Given the description of an element on the screen output the (x, y) to click on. 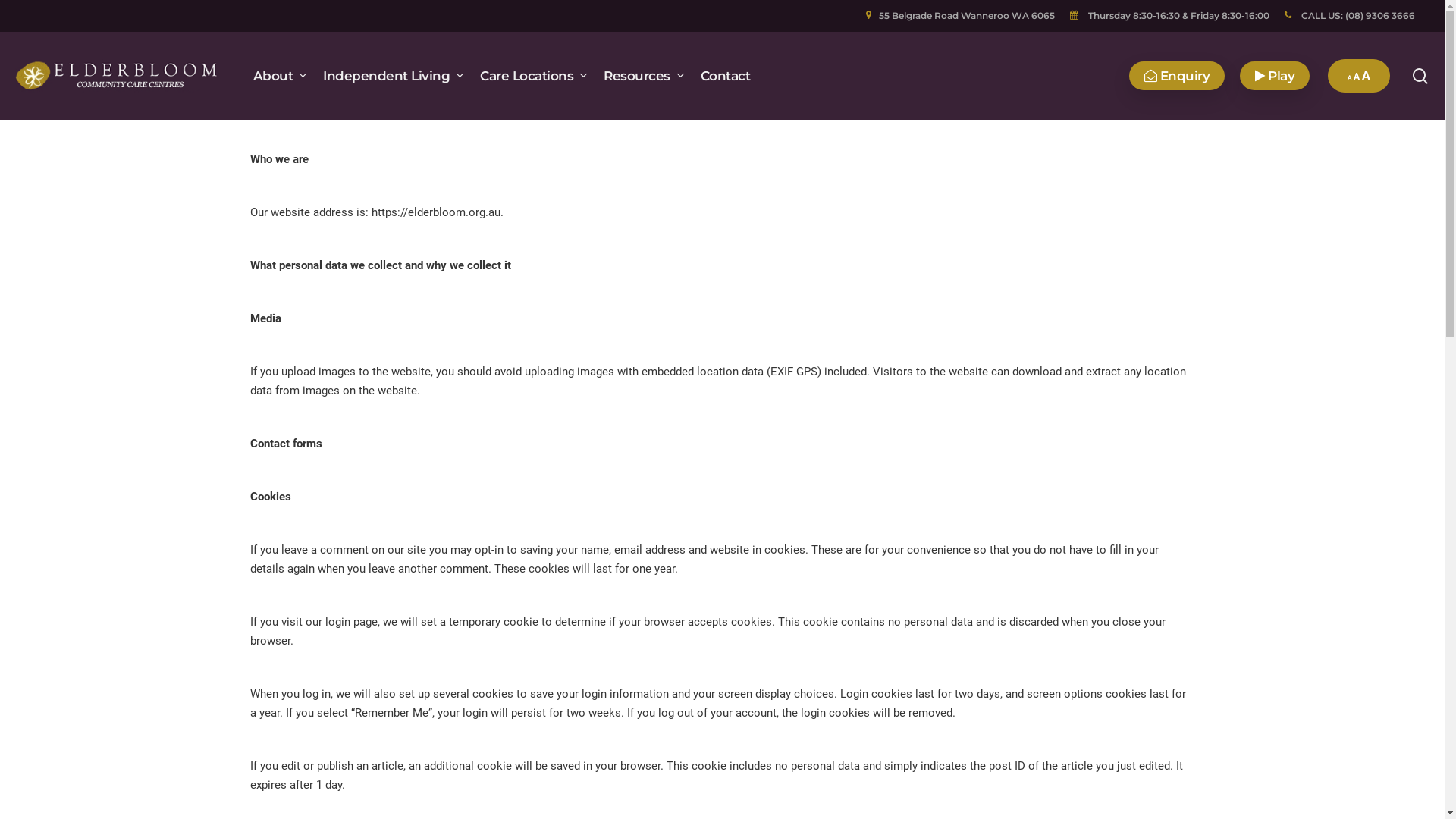
Donations Element type: text (757, 603)
Privacy Policy Element type: text (497, 778)
A
Increase font size. Element type: text (1365, 75)
Sixteen By Nine Element type: text (341, 795)
About Element type: text (280, 75)
CALL US: (08) 9306 3666 Element type: text (1349, 15)
Jacaranda Lodge Element type: text (1015, 603)
Care Locations Element type: text (534, 75)
Independent Living Element type: text (393, 75)
Resources Element type: text (644, 75)
Volunteering Element type: text (764, 678)
Wanneroo Community Nursing Home Element type: text (1069, 628)
Barridale Lodge Element type: text (1012, 578)
PerthDigitalAgency Element type: text (437, 795)
Thursday 8:30-16:30 & Friday 8:30-16:00 Element type: text (1169, 15)
Play Element type: text (1274, 75)
55 Belgrade Road Wanneroo WA 6065 Element type: text (960, 15)
A
Decrease font size. Element type: text (1349, 77)
A
Reset font size. Element type: text (1356, 76)
instagram Element type: text (1187, 777)
search Element type: text (1420, 76)
facebook Element type: text (1131, 777)
Helpful Links Element type: text (765, 653)
youtube Element type: text (1158, 777)
Belgrade Park Village Element type: text (1026, 653)
Contact Element type: text (725, 75)
FAQs Element type: text (745, 628)
Bequests Element type: text (755, 578)
Enquiry Element type: text (1176, 75)
